Given the description of an element on the screen output the (x, y) to click on. 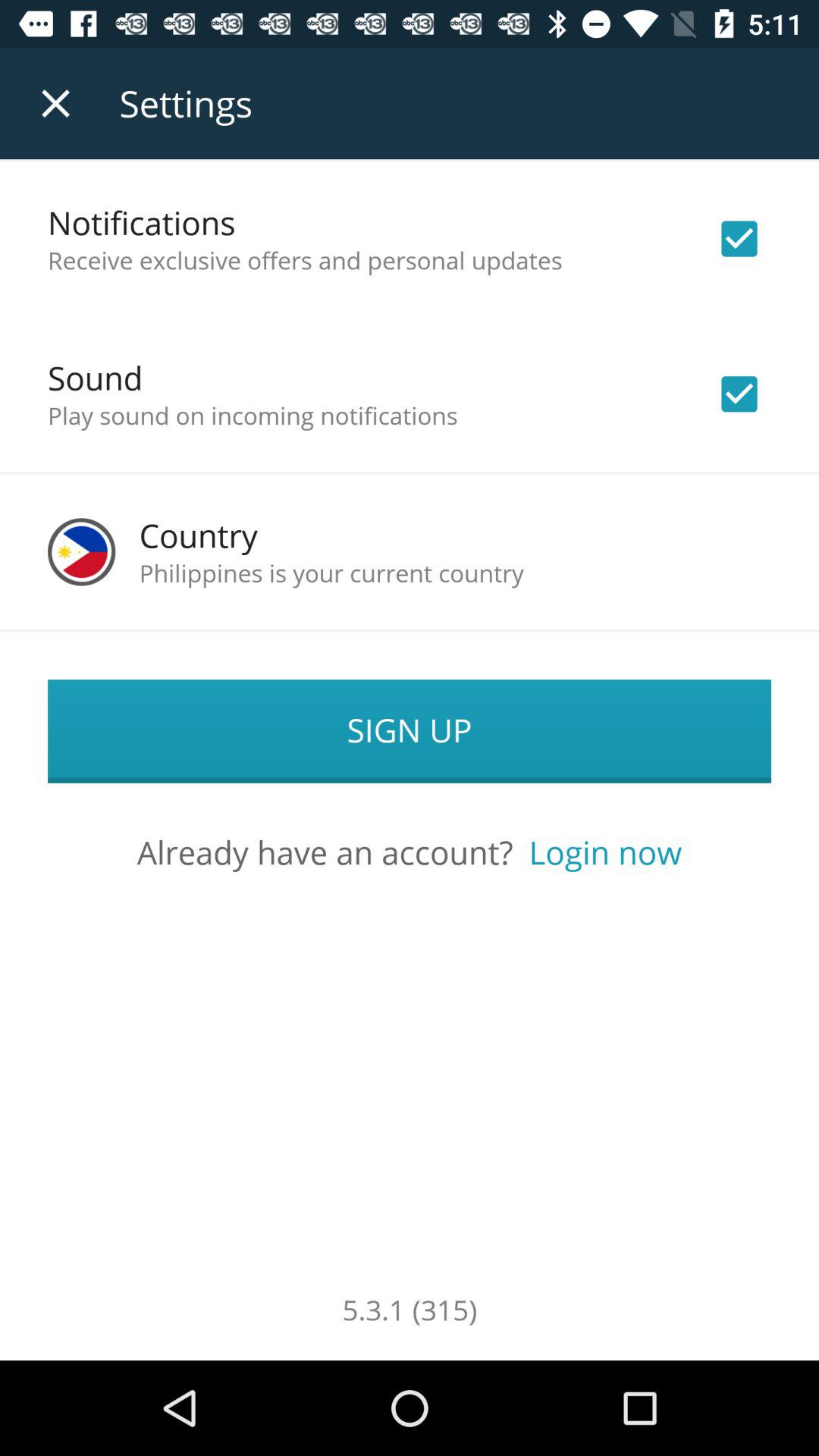
choose sign up item (409, 731)
